Given the description of an element on the screen output the (x, y) to click on. 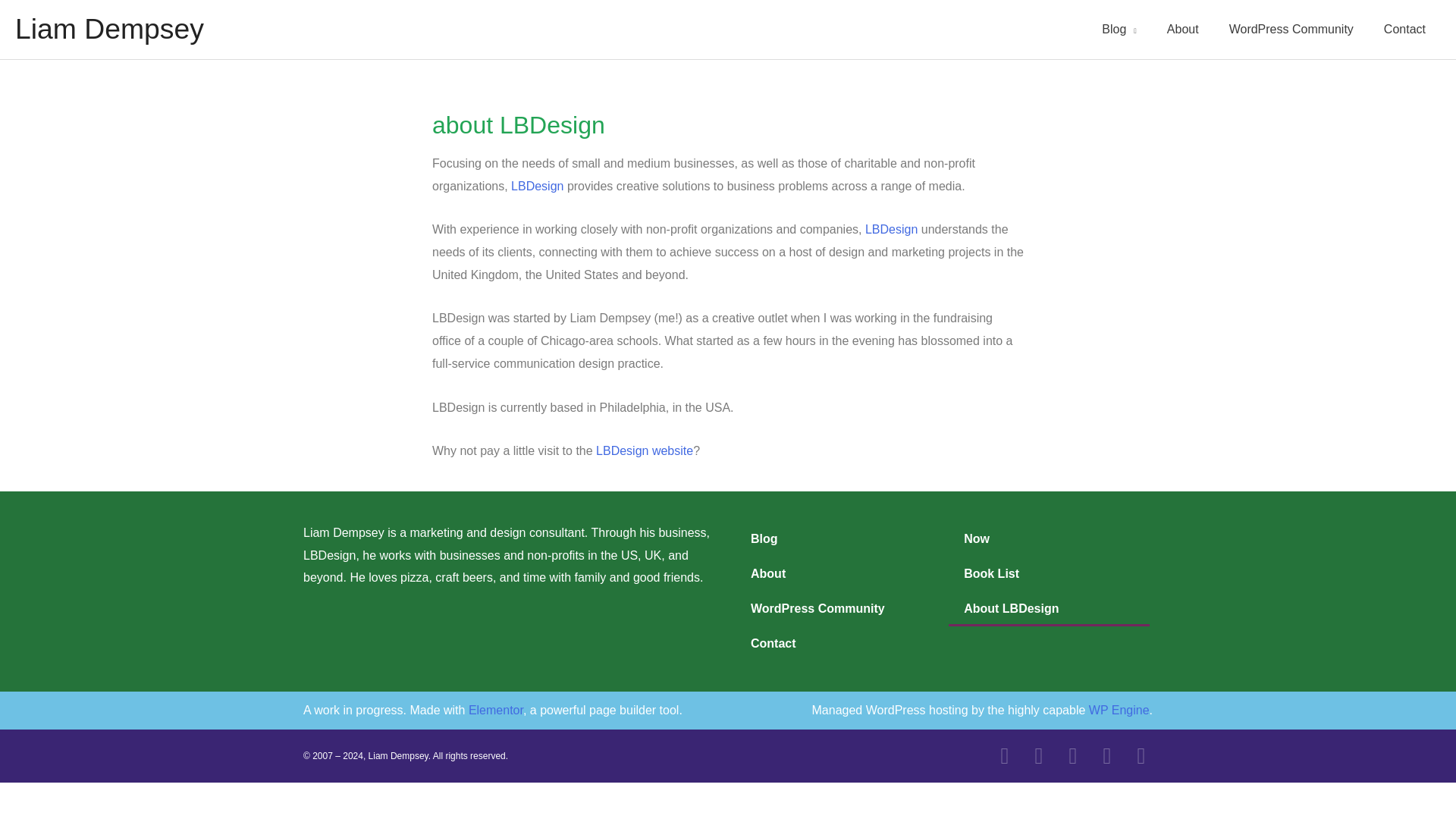
Rss (1141, 755)
Contact (1404, 29)
Twitter (1004, 755)
WP Engine (1119, 709)
Contact (834, 643)
Instagram (1107, 755)
WordPress Community (834, 608)
About LBDesign (1049, 608)
Elementor (495, 709)
Book List (1049, 573)
Blog (834, 538)
LBDesign (537, 185)
Now (1049, 538)
LBDesign website (644, 450)
About (834, 573)
